Given the description of an element on the screen output the (x, y) to click on. 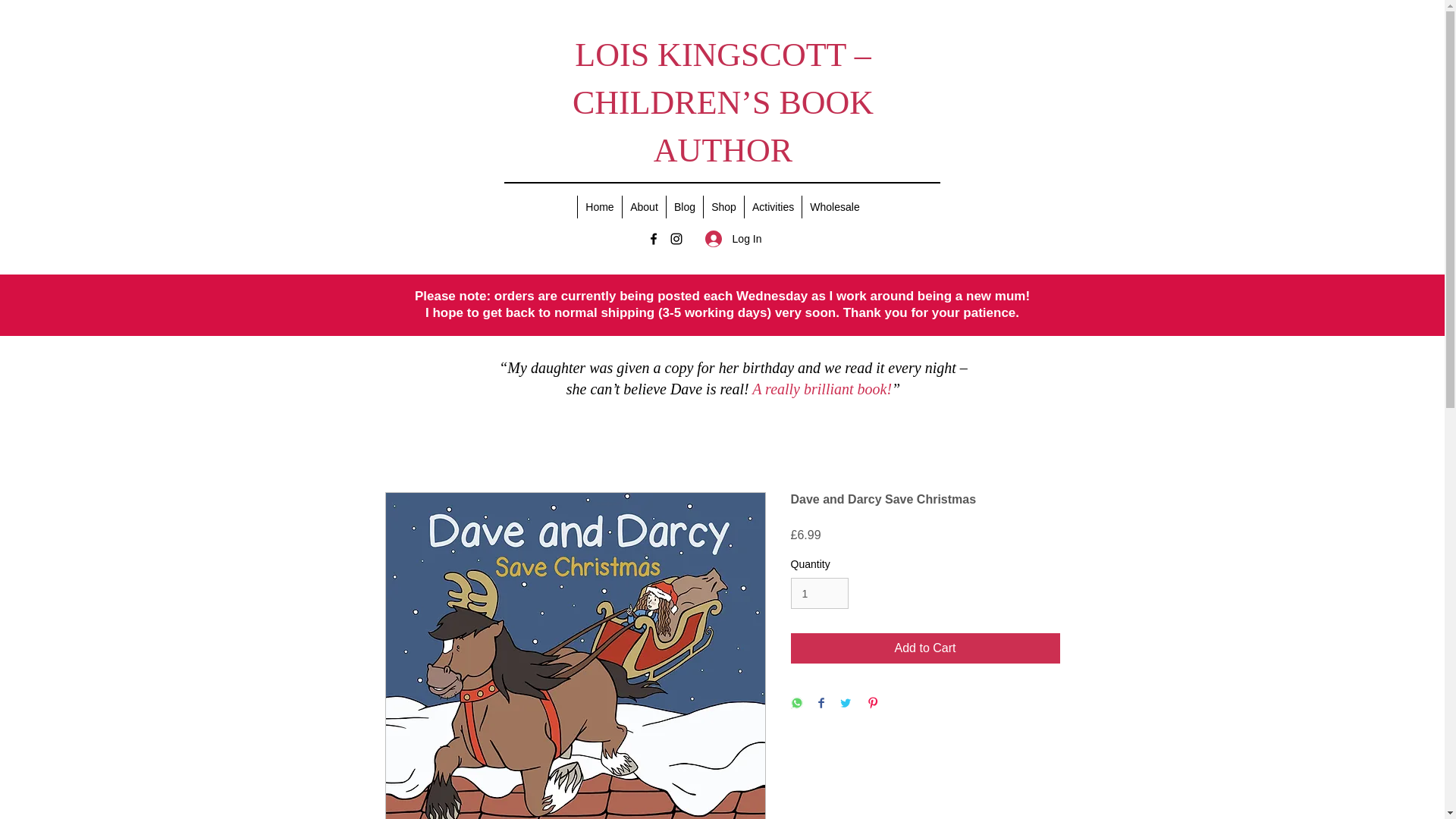
Blog (684, 206)
About (643, 206)
Add to Cart (924, 648)
Activities (773, 206)
Shop (723, 206)
Wholesale (834, 206)
Home (598, 206)
1 (818, 593)
Log In (733, 239)
